Given the description of an element on the screen output the (x, y) to click on. 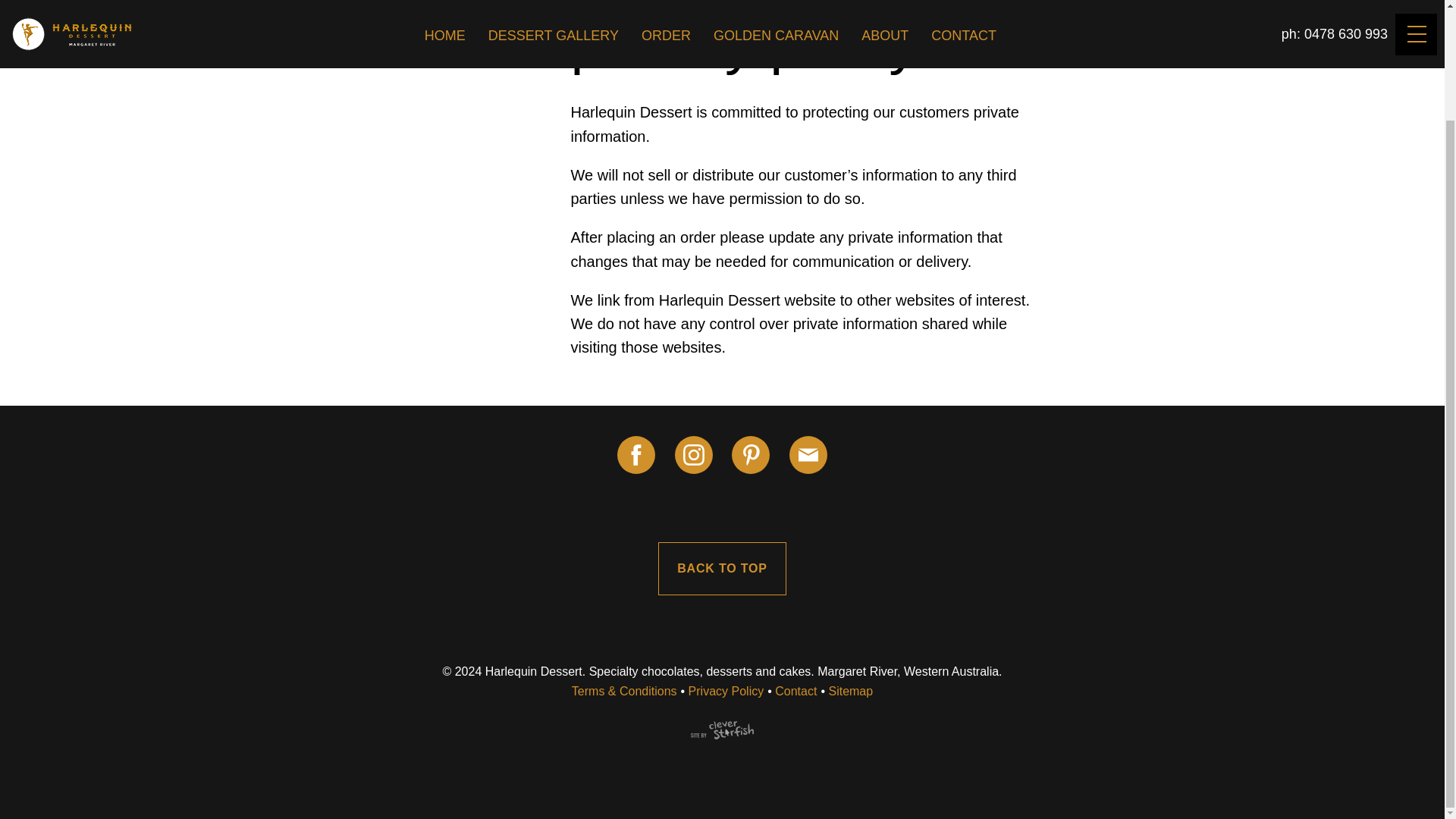
Privacy Policy (726, 691)
Facebook (636, 454)
Sitemap (850, 691)
Site by Clever Starfish (722, 730)
BACK TO TOP (722, 568)
Email (808, 454)
Instagram (694, 454)
Pinterest (751, 454)
Contact (795, 691)
